Given the description of an element on the screen output the (x, y) to click on. 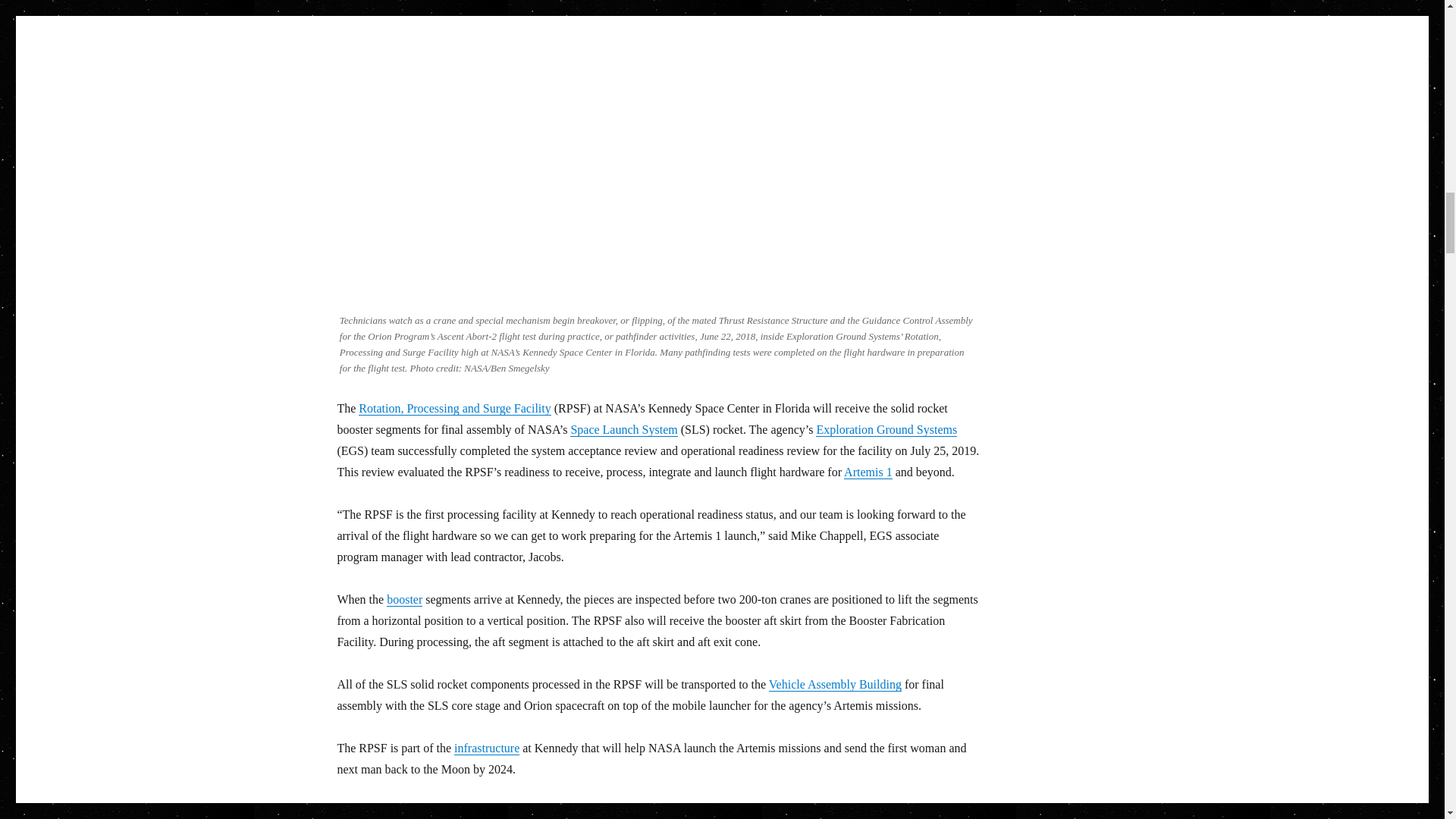
Vehicle Assembly Building (834, 684)
Artemis 1 (868, 472)
booster (404, 599)
Rotation, Processing and Surge Facility (454, 408)
infrastructure (486, 748)
Exploration Ground Systems (885, 429)
Space Launch System (623, 429)
